Given the description of an element on the screen output the (x, y) to click on. 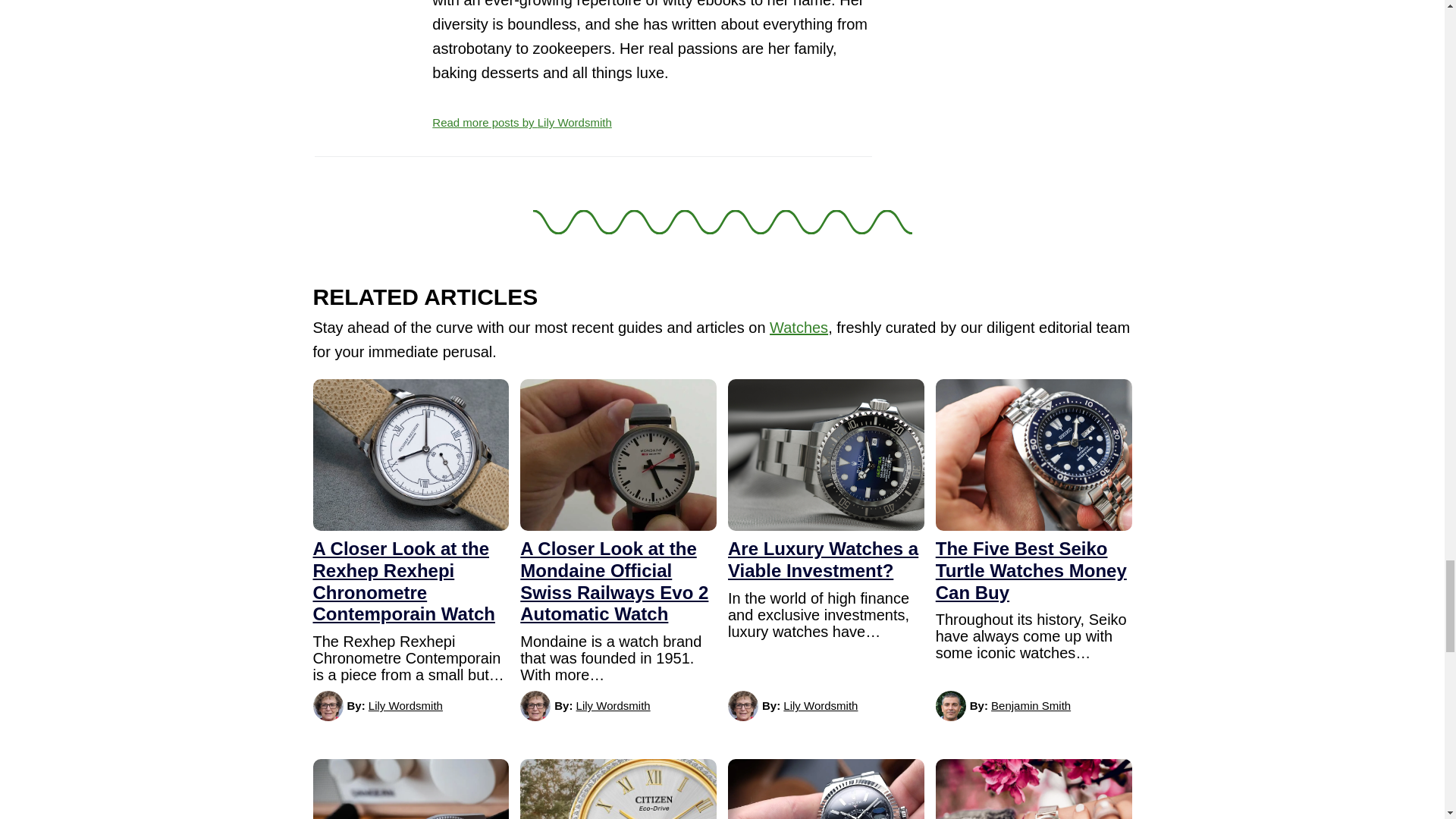
Wavy Line (721, 221)
